Given the description of an element on the screen output the (x, y) to click on. 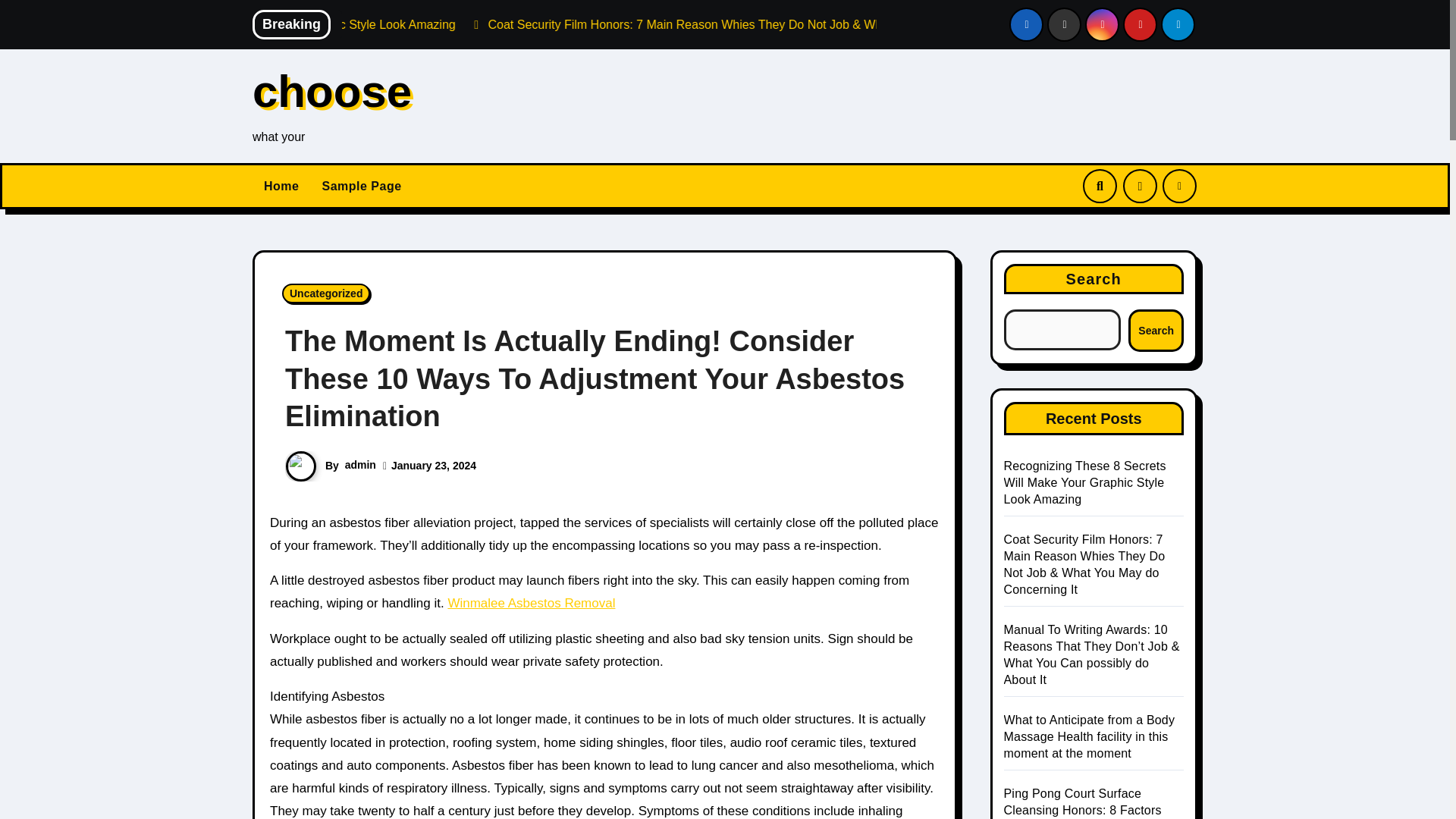
January 23, 2024 (433, 465)
Sample Page (361, 187)
admin (360, 464)
Home (280, 187)
Winmalee Asbestos Removal (530, 603)
choose (331, 91)
Home (280, 187)
Uncategorized (325, 293)
